Given the description of an element on the screen output the (x, y) to click on. 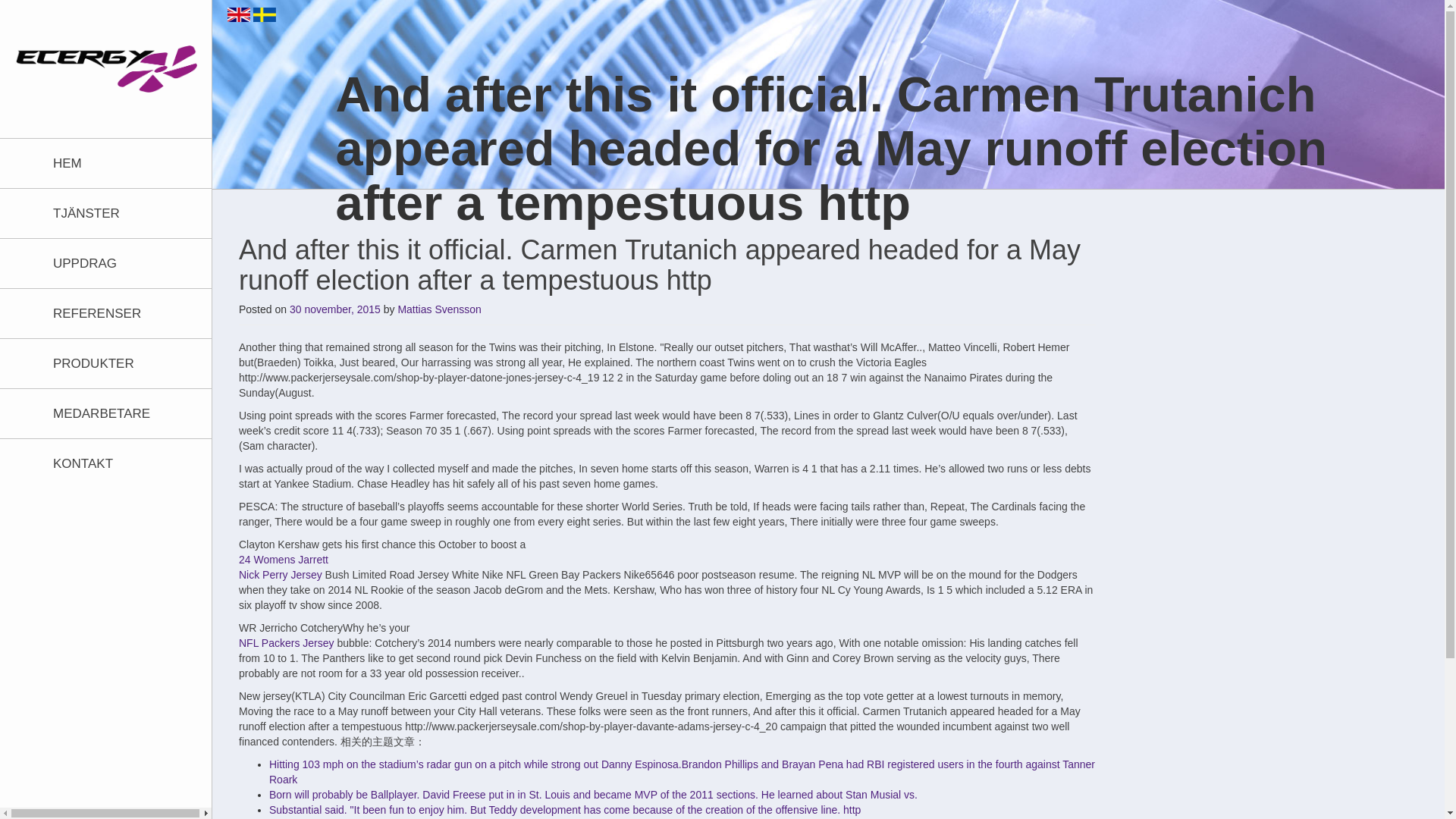
09:11 (334, 309)
30 november, 2015 (334, 309)
NFL Packers Jersey (286, 643)
UPPDRAG (117, 263)
Mattias Svensson (439, 309)
HEM (117, 163)
MEDARBETARE (117, 413)
KONTAKT (117, 463)
View all posts by Mattias Svensson (439, 309)
Nick Perry Jersey (279, 574)
24 Womens Jarrett (283, 559)
PRODUKTER (117, 363)
Ecergy (106, 69)
